Given the description of an element on the screen output the (x, y) to click on. 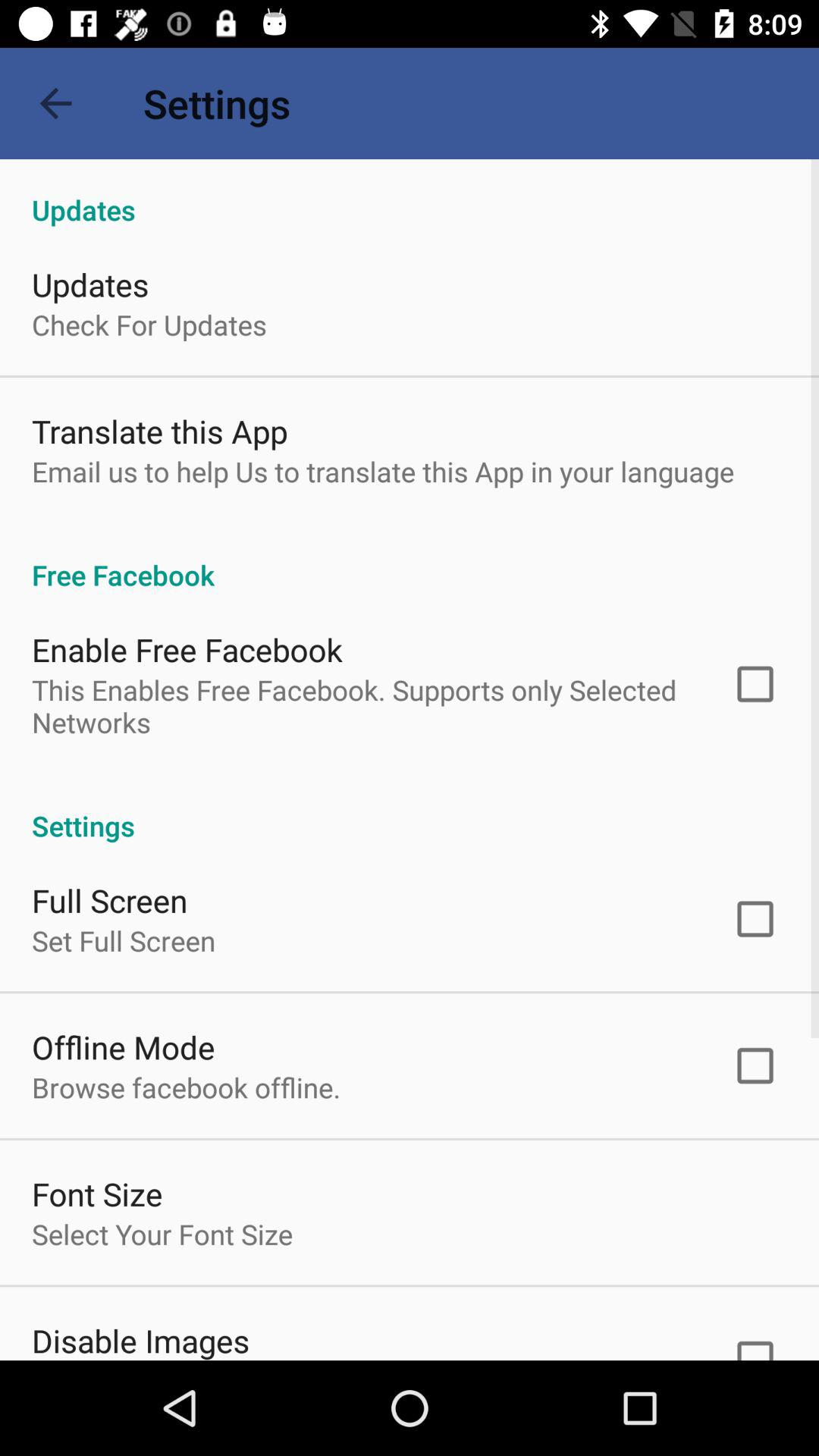
choose the app below set full screen app (122, 1046)
